Given the description of an element on the screen output the (x, y) to click on. 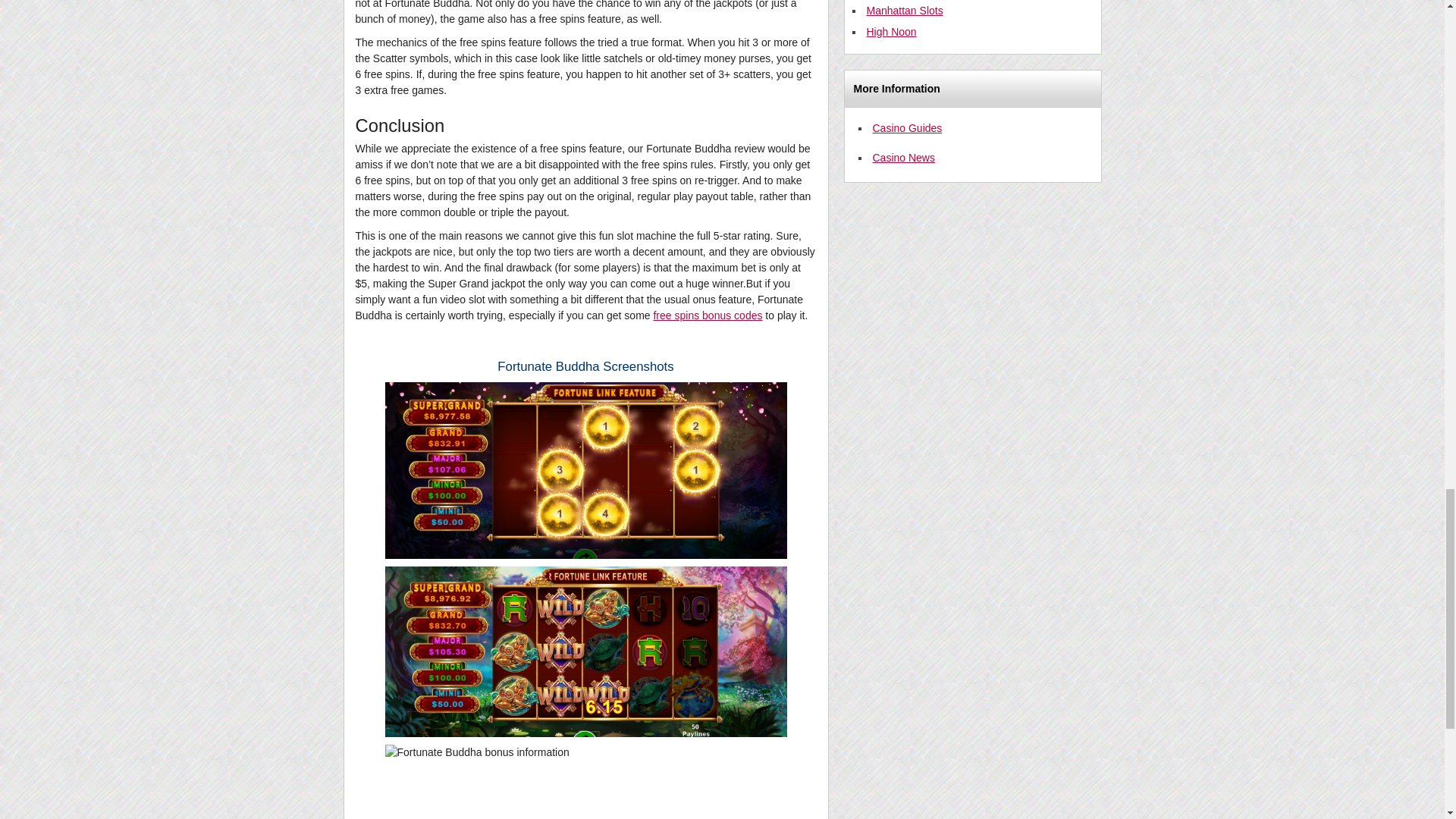
free spins bonus codes (706, 315)
